Given the description of an element on the screen output the (x, y) to click on. 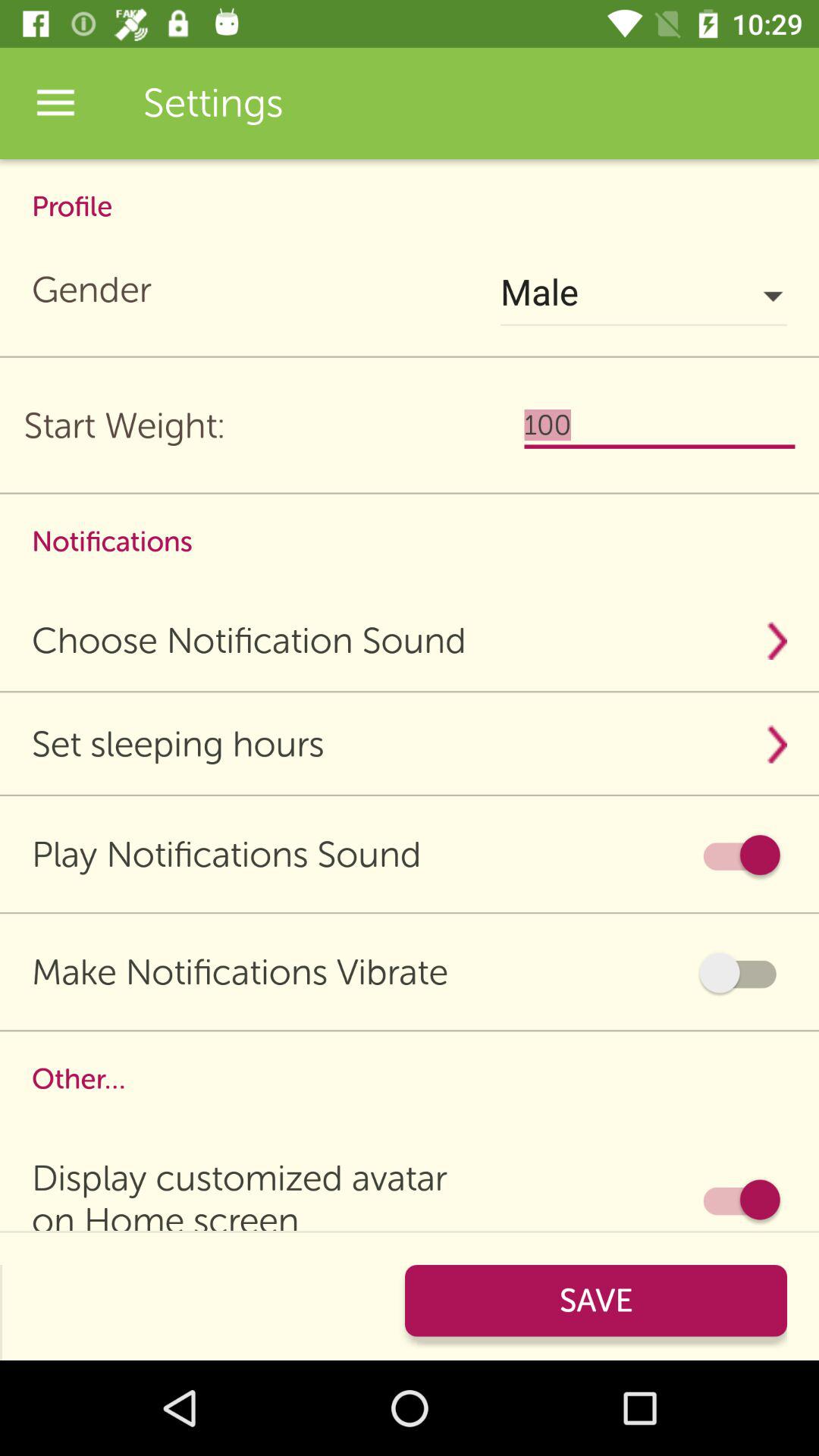
open item next to play notifications sound (739, 855)
